Given the description of an element on the screen output the (x, y) to click on. 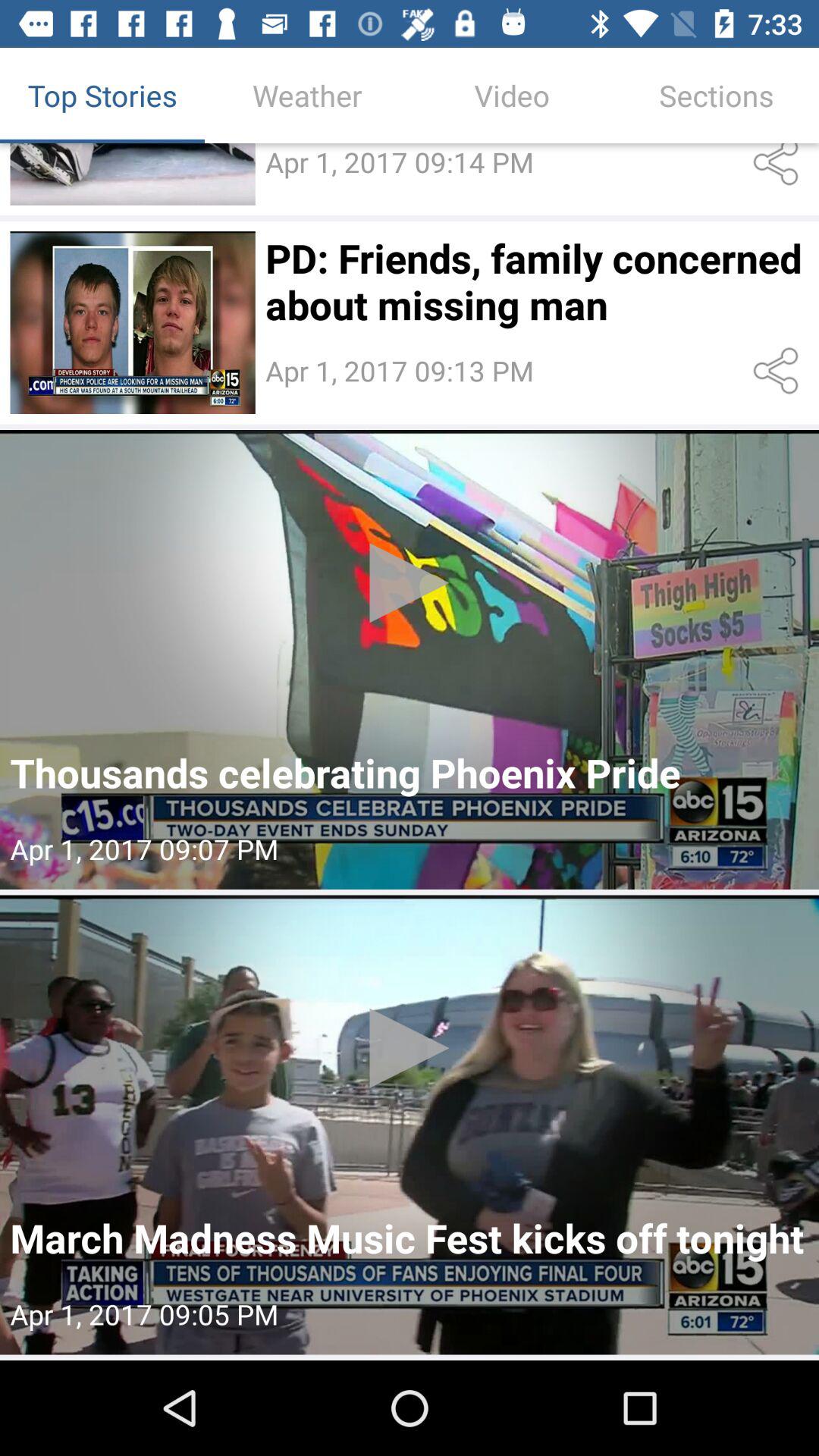
press to select video (409, 1124)
